Given the description of an element on the screen output the (x, y) to click on. 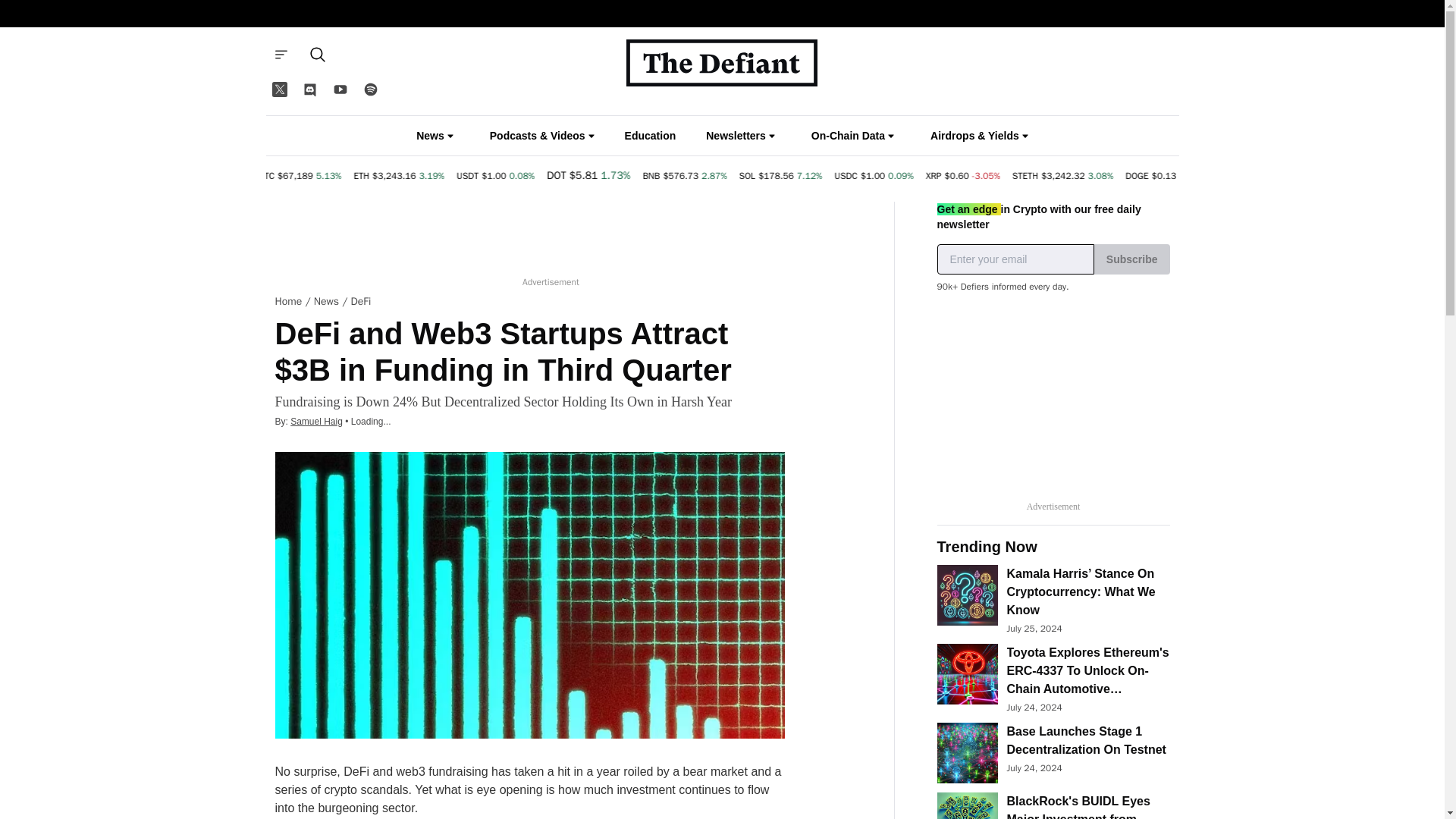
News (434, 135)
On-Chain Data (851, 135)
YouTube (339, 89)
Hamburguer button (279, 54)
Discord (309, 89)
Twitter (278, 89)
Newsletters (740, 135)
Spotify (370, 89)
Education (650, 135)
